Given the description of an element on the screen output the (x, y) to click on. 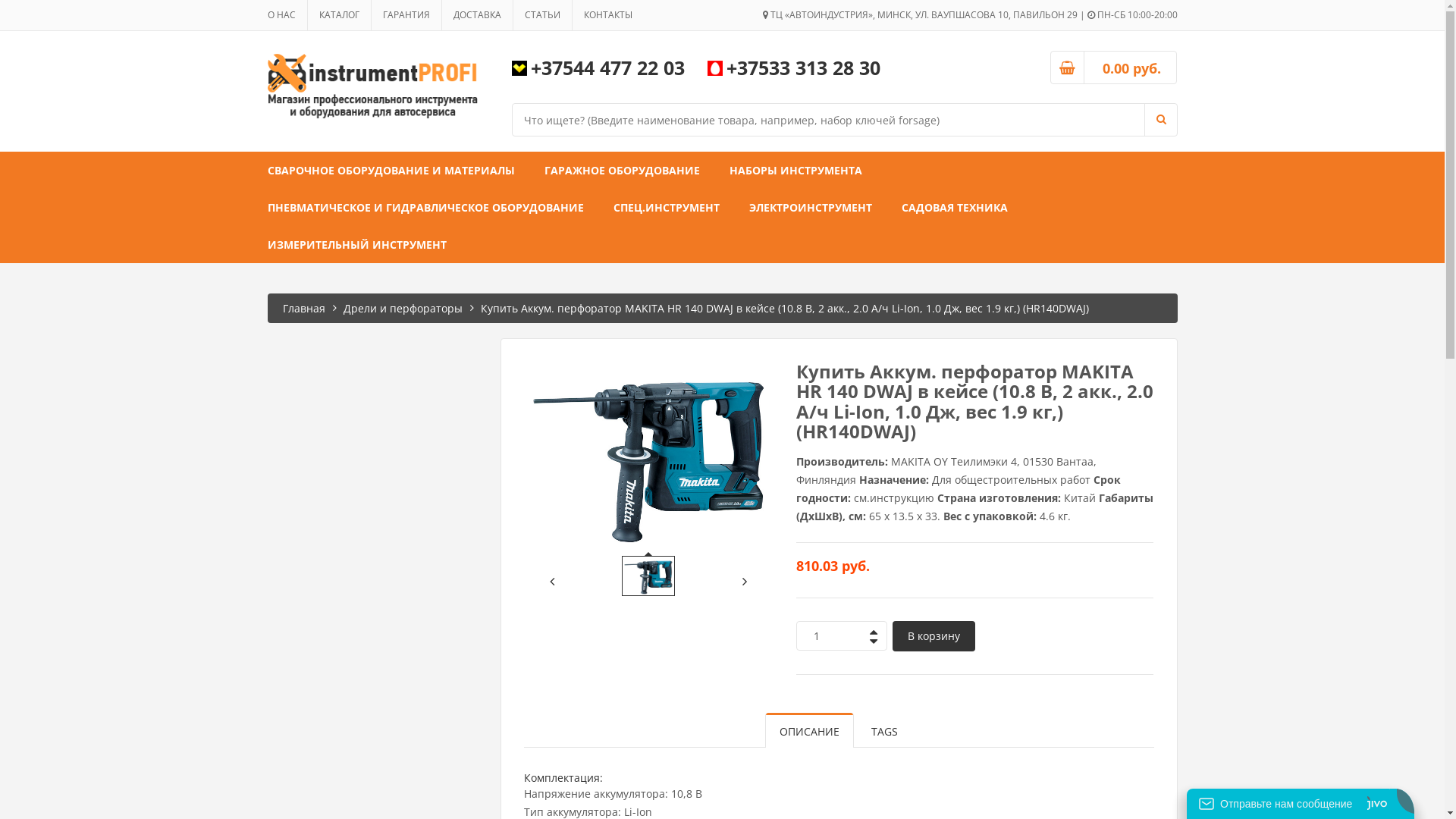
TAGS Element type: text (884, 729)
Qty Element type: hover (830, 635)
981774 Element type: hover (648, 575)
